Given the description of an element on the screen output the (x, y) to click on. 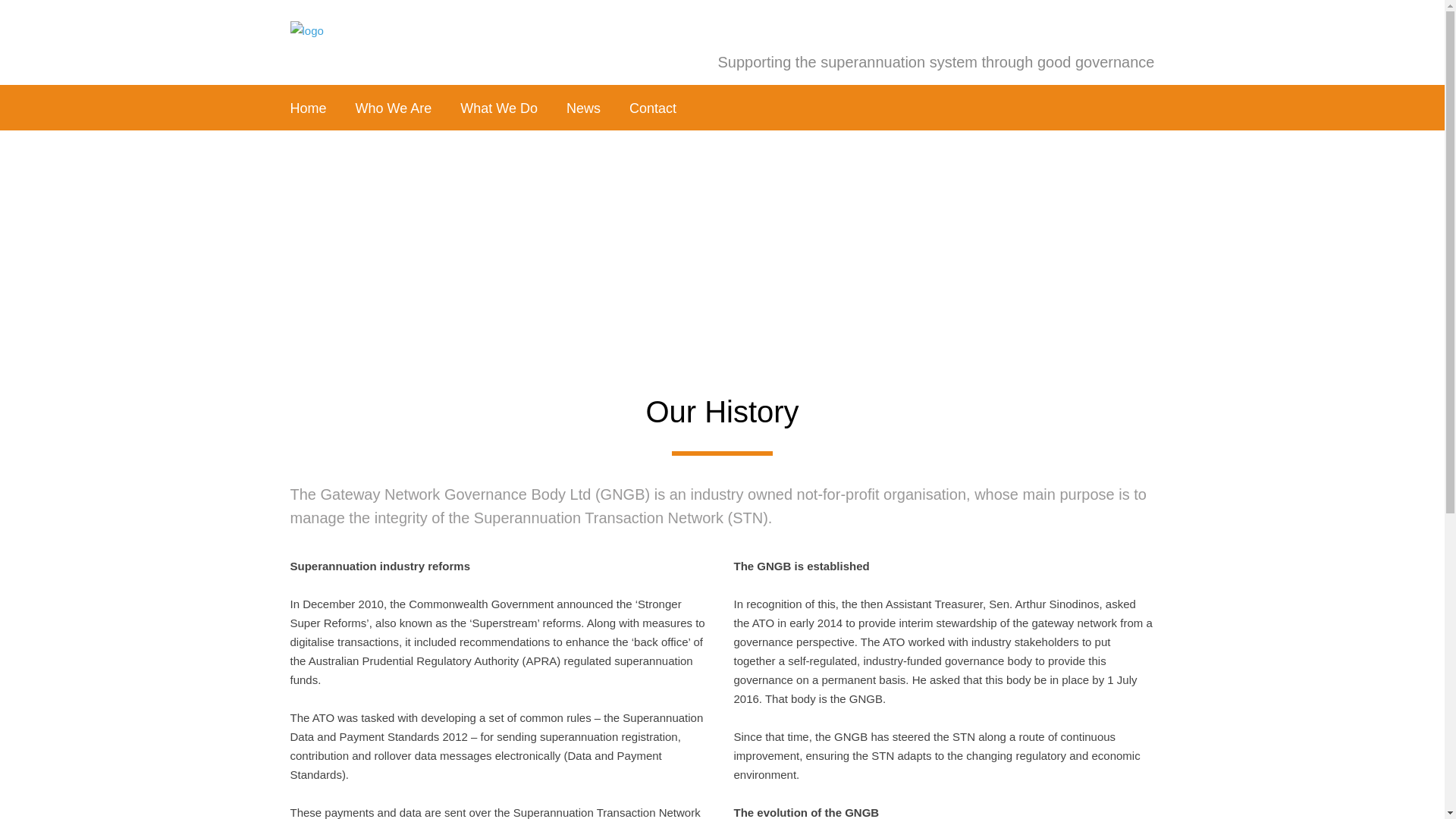
News Element type: text (583, 107)
What We Do Element type: text (498, 107)
Who We Are Element type: text (393, 107)
Contact Element type: text (645, 107)
Home Element type: text (314, 107)
